Given the description of an element on the screen output the (x, y) to click on. 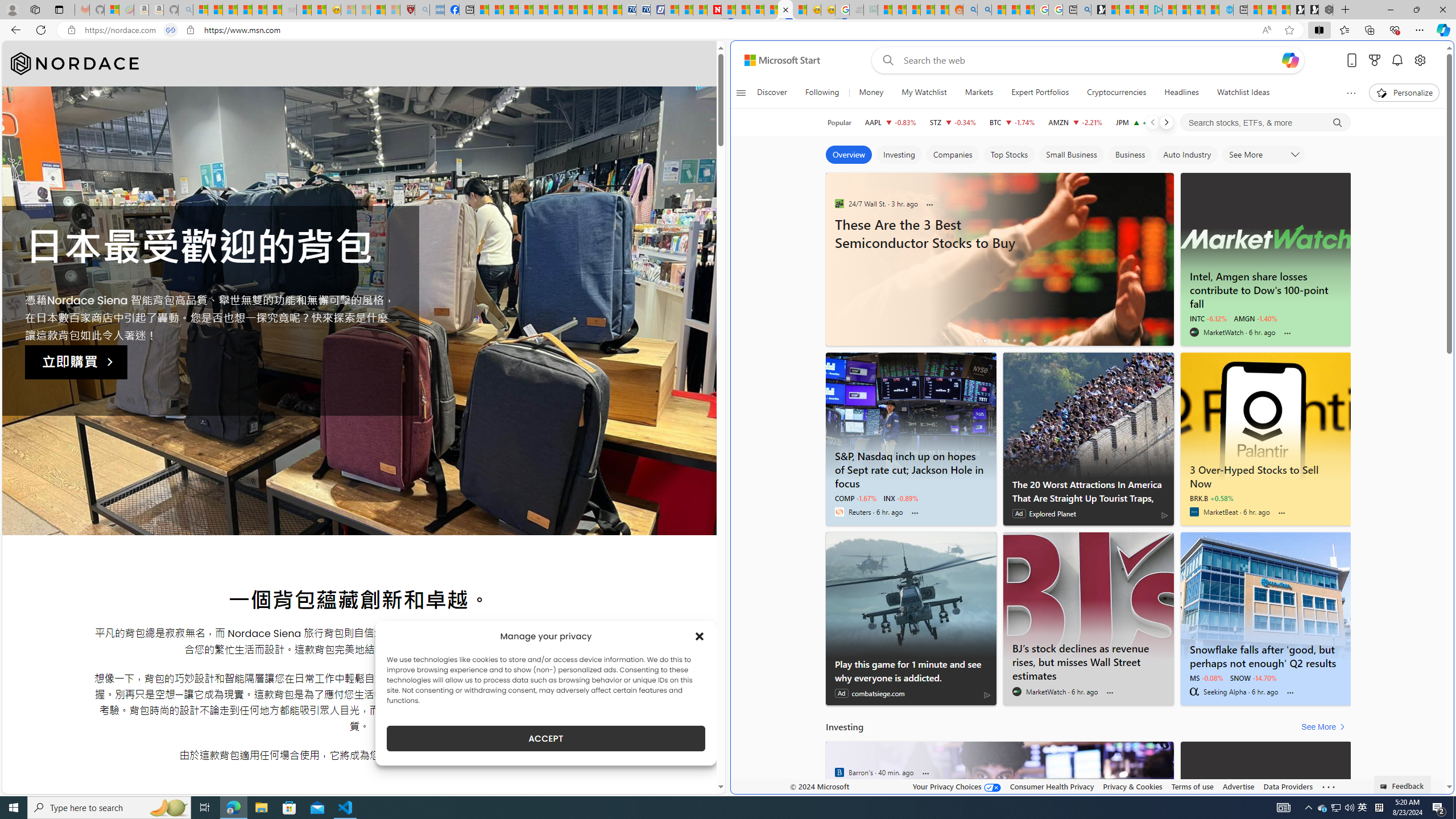
Class: cmplz-close (699, 636)
BRK.B +0.58% (1211, 497)
